Given the description of an element on the screen output the (x, y) to click on. 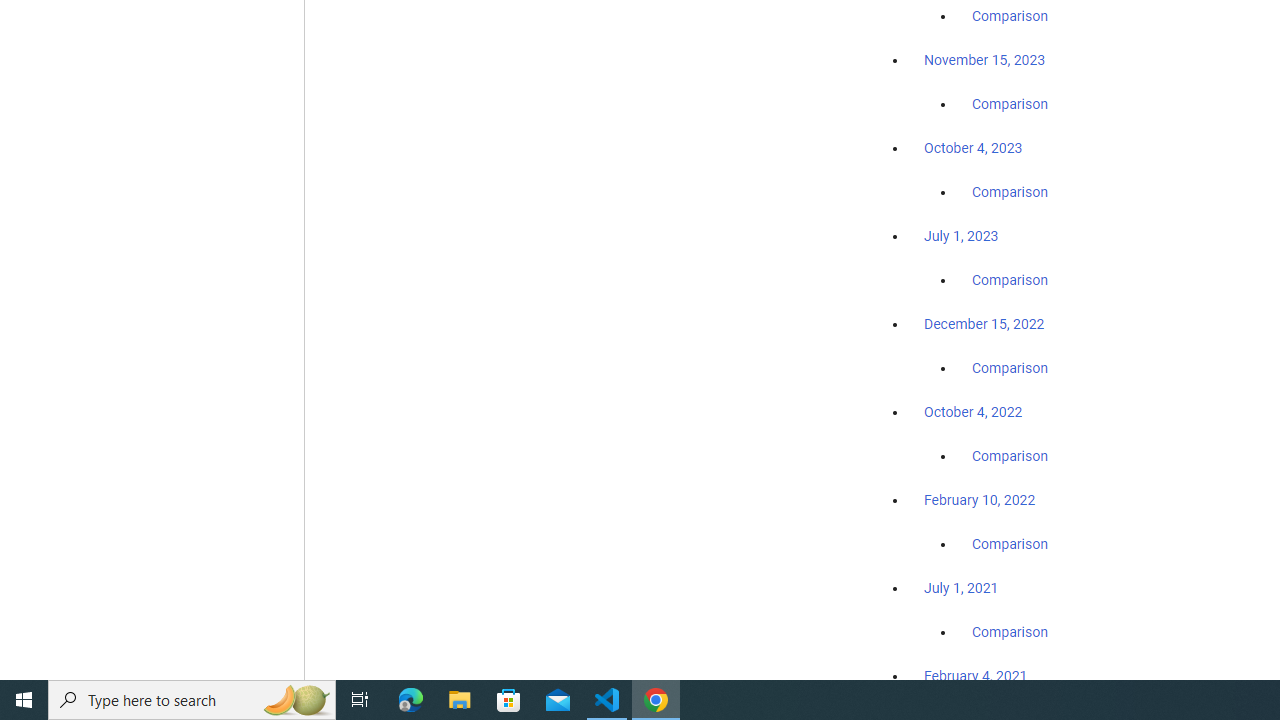
Microsoft Store (509, 699)
November 15, 2023 (984, 60)
Start (24, 699)
October 4, 2023 (973, 148)
Microsoft Edge (411, 699)
Comparison (1009, 631)
Type here to search (191, 699)
October 4, 2022 (973, 412)
File Explorer (460, 699)
July 1, 2021 (961, 587)
Visual Studio Code - 1 running window (607, 699)
Task View (359, 699)
December 15, 2022 (984, 323)
Search highlights icon opens search home window (295, 699)
February 10, 2022 (979, 500)
